Given the description of an element on the screen output the (x, y) to click on. 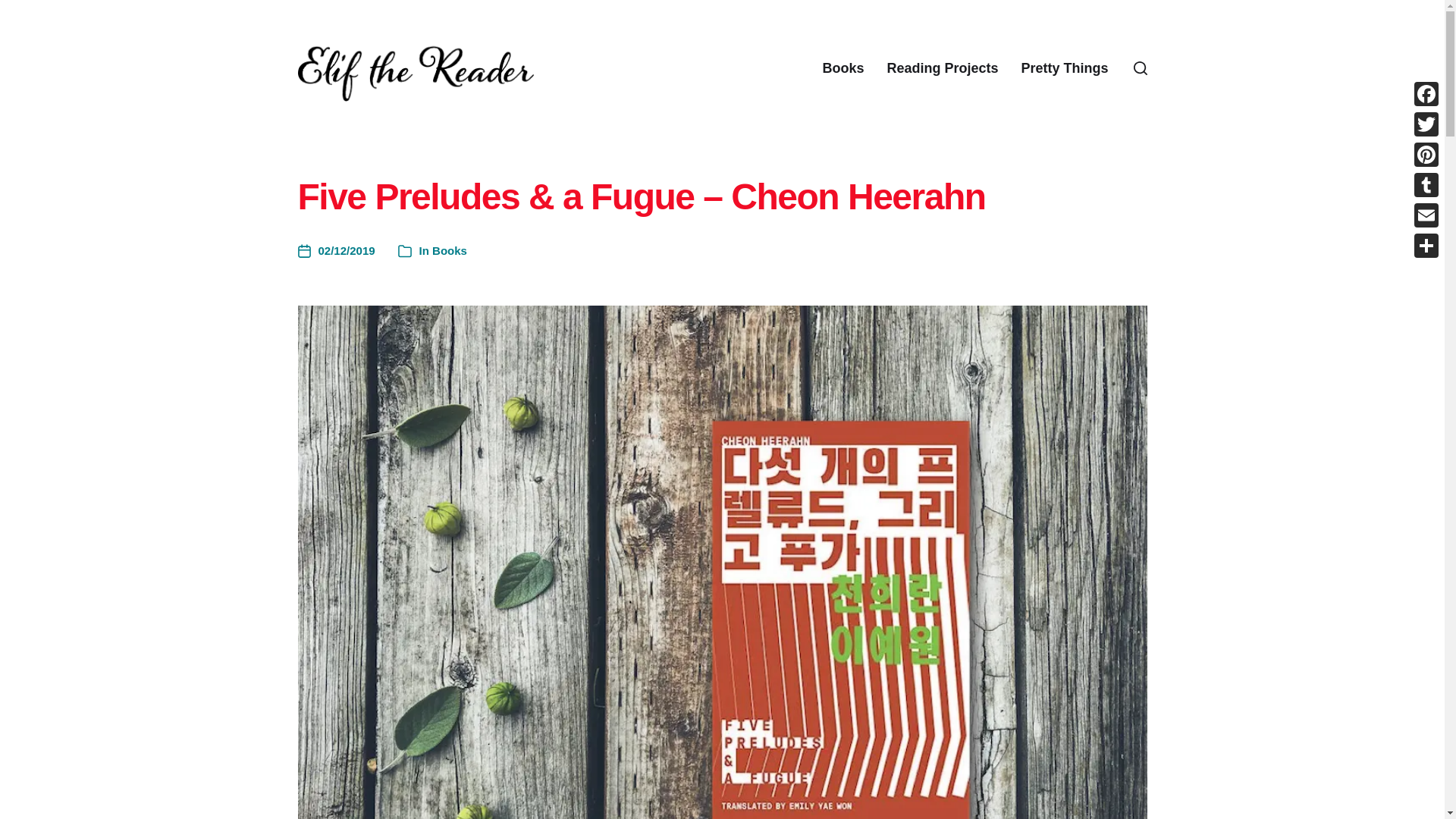
Reading Projects (941, 68)
Pretty Things (1064, 68)
Books (842, 68)
Facebook (1425, 93)
Books (449, 250)
